Given the description of an element on the screen output the (x, y) to click on. 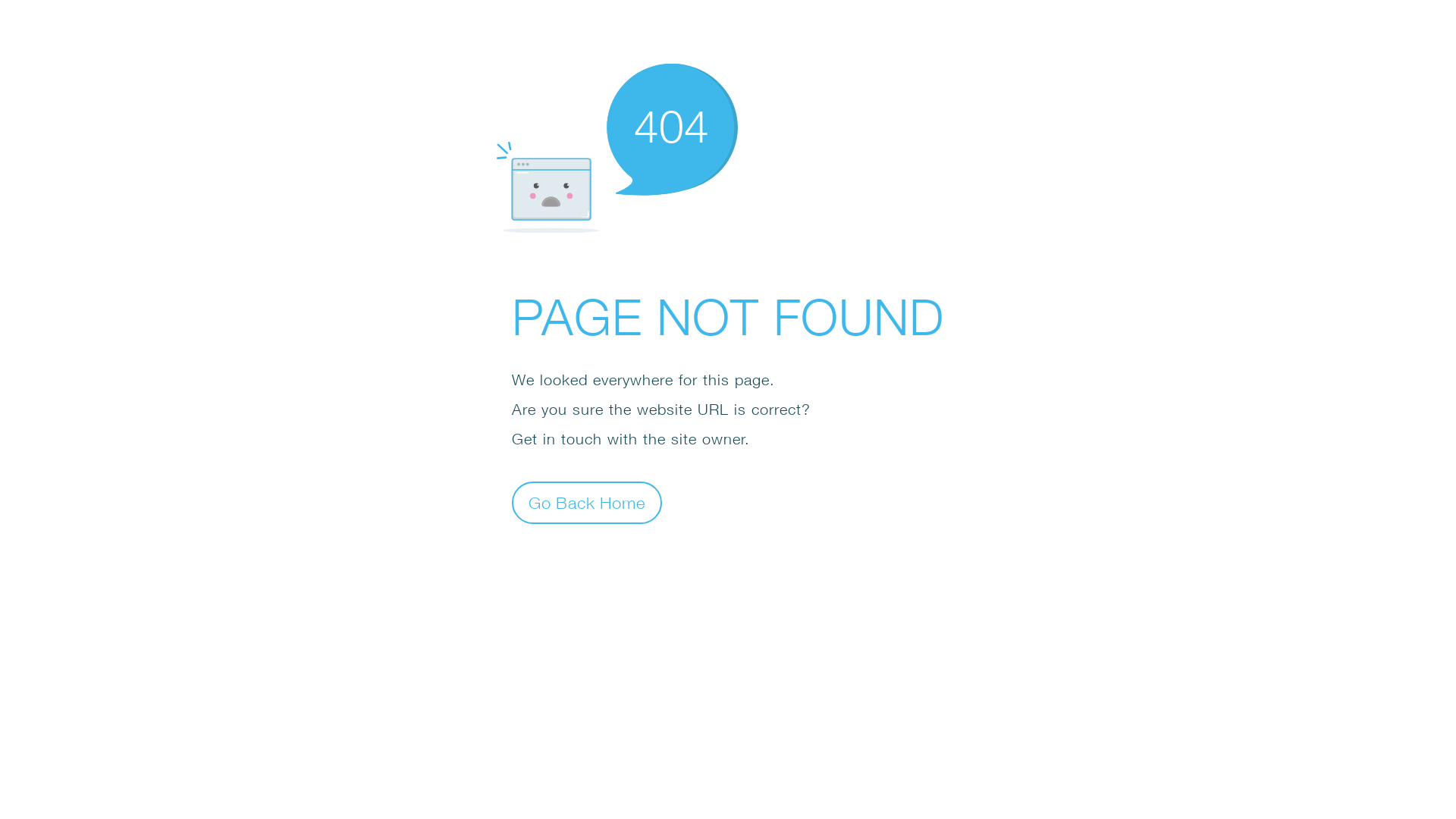
Go Back Home Element type: text (586, 502)
